Given the description of an element on the screen output the (x, y) to click on. 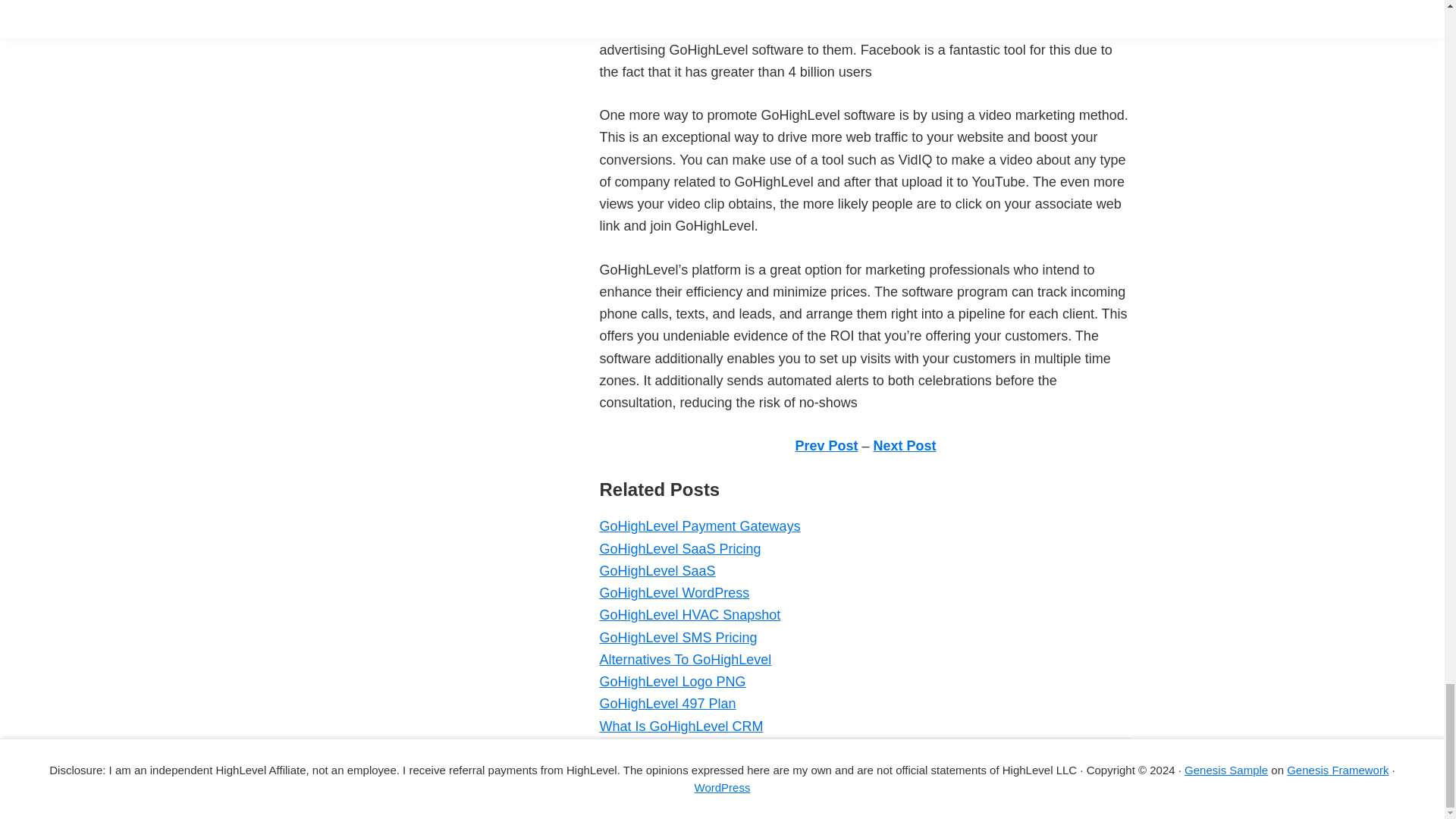
GoHighLevel HVAC Snapshot (689, 614)
GoHighLevel SaaS (656, 570)
GoHighLevel HVAC Snapshot (689, 614)
GoHighLevel Logo PNG (671, 681)
Alternatives To GoHighLevel (684, 659)
GoHighLevel SaaS Pricing (679, 548)
GoHighLevel WordPress (673, 592)
GoHighLevel Payment Gateways (698, 525)
Alternatives To GoHighLevel (684, 659)
GoHighLevel WordPress (673, 592)
